Given the description of an element on the screen output the (x, y) to click on. 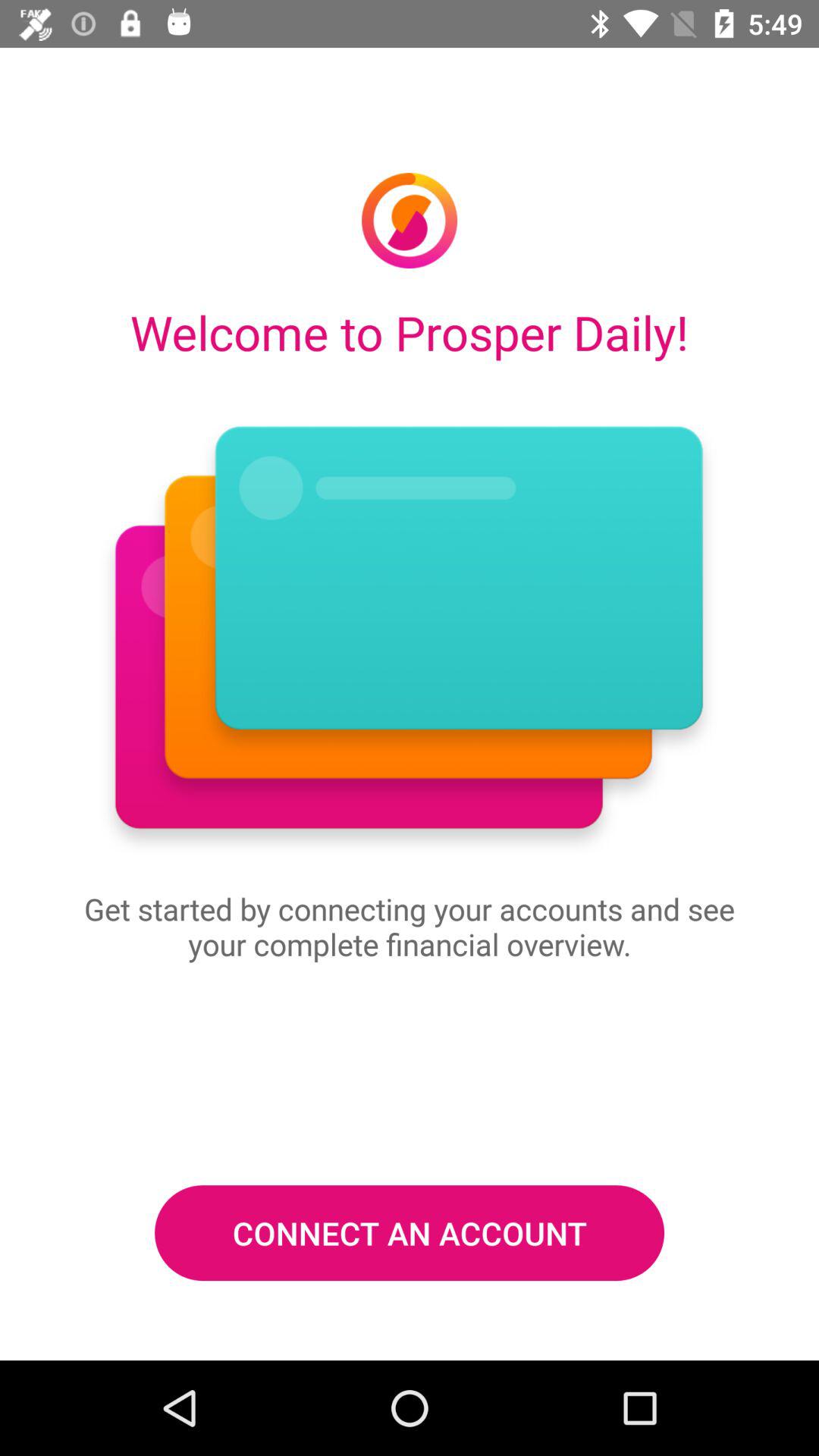
turn on connect an account icon (409, 1232)
